Given the description of an element on the screen output the (x, y) to click on. 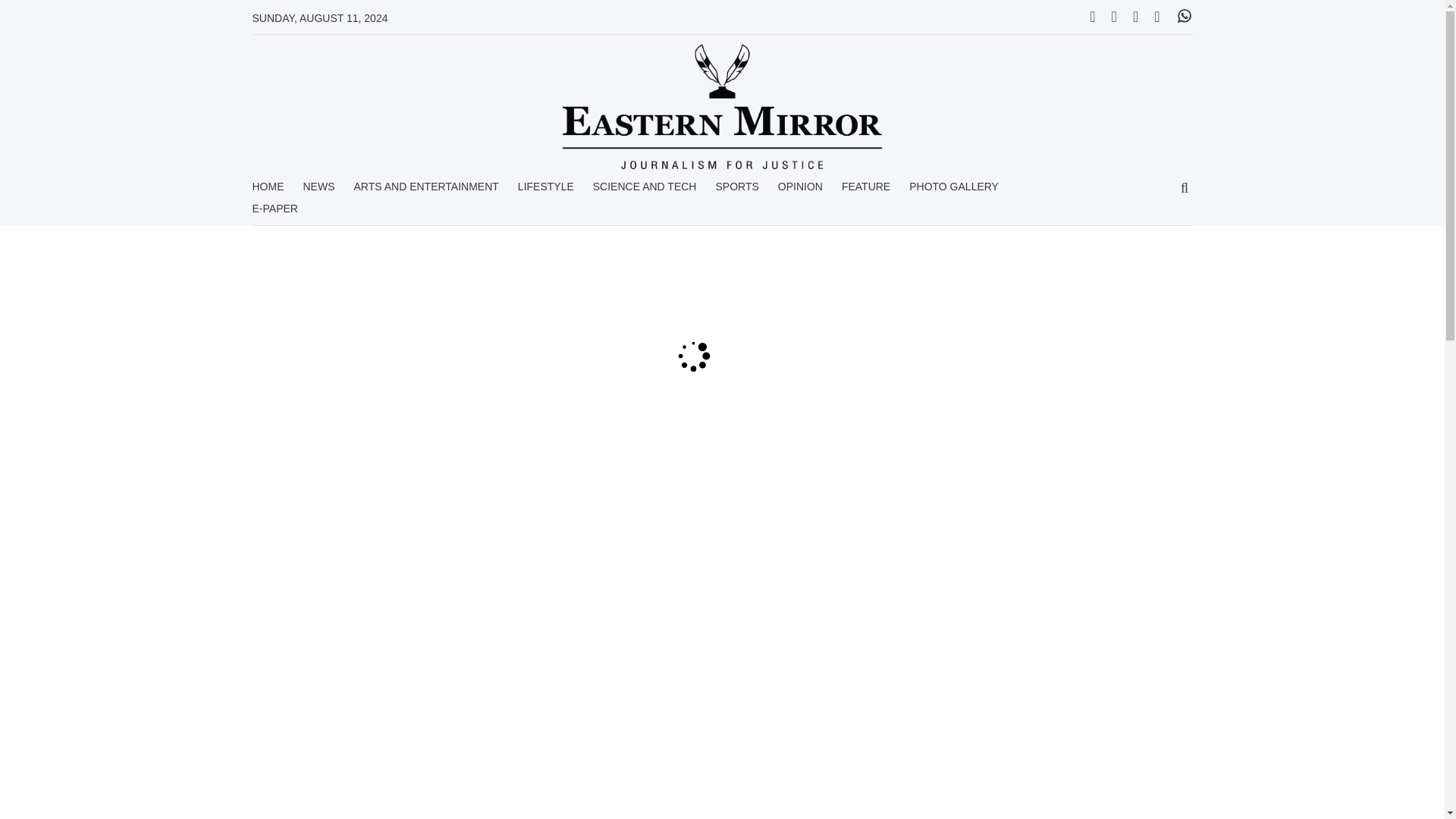
GO (1184, 188)
HOME (267, 191)
Eastern Mirror (722, 106)
ARTS AND ENTERTAINMENT (425, 191)
GO (1184, 188)
LIFESTYLE (545, 191)
NEWS (318, 191)
